Given the description of an element on the screen output the (x, y) to click on. 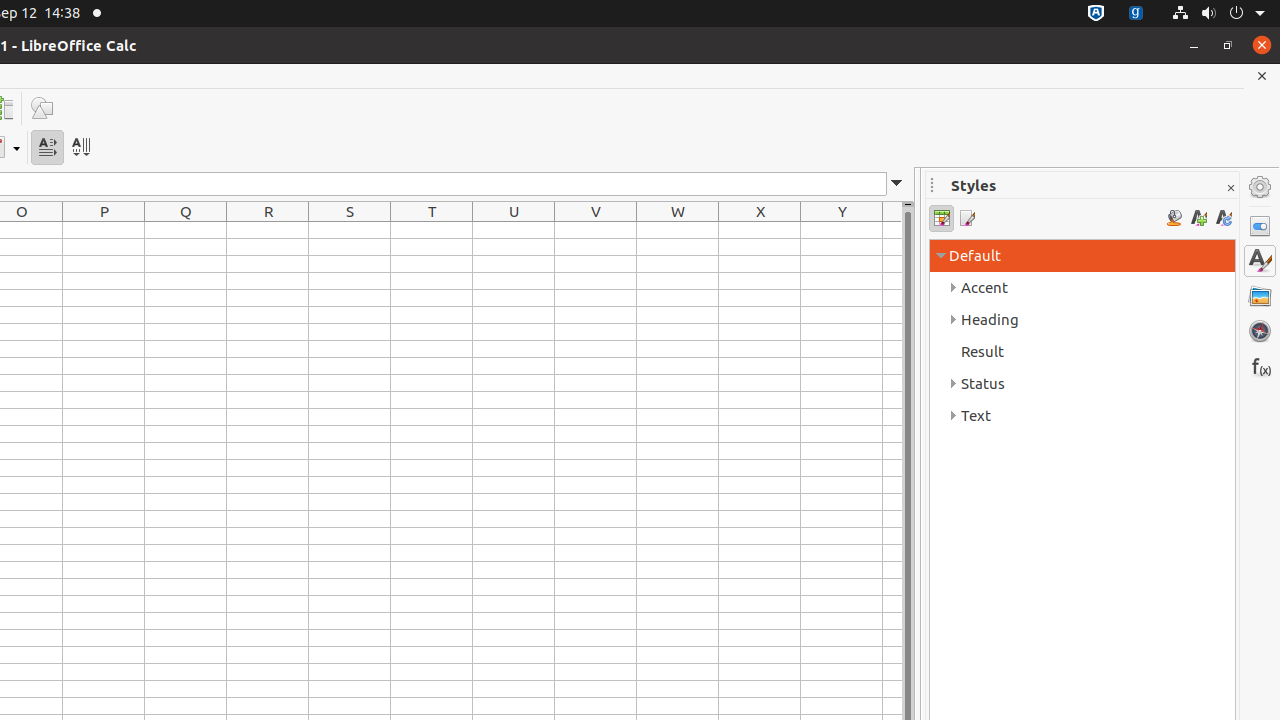
Close Sidebar Deck Element type: push-button (1230, 188)
Cell Styles Element type: push-button (941, 218)
Styles Element type: radio-button (1260, 261)
Expand Formula Bar Element type: push-button (897, 183)
P1 Element type: table-cell (104, 230)
